Given the description of an element on the screen output the (x, y) to click on. 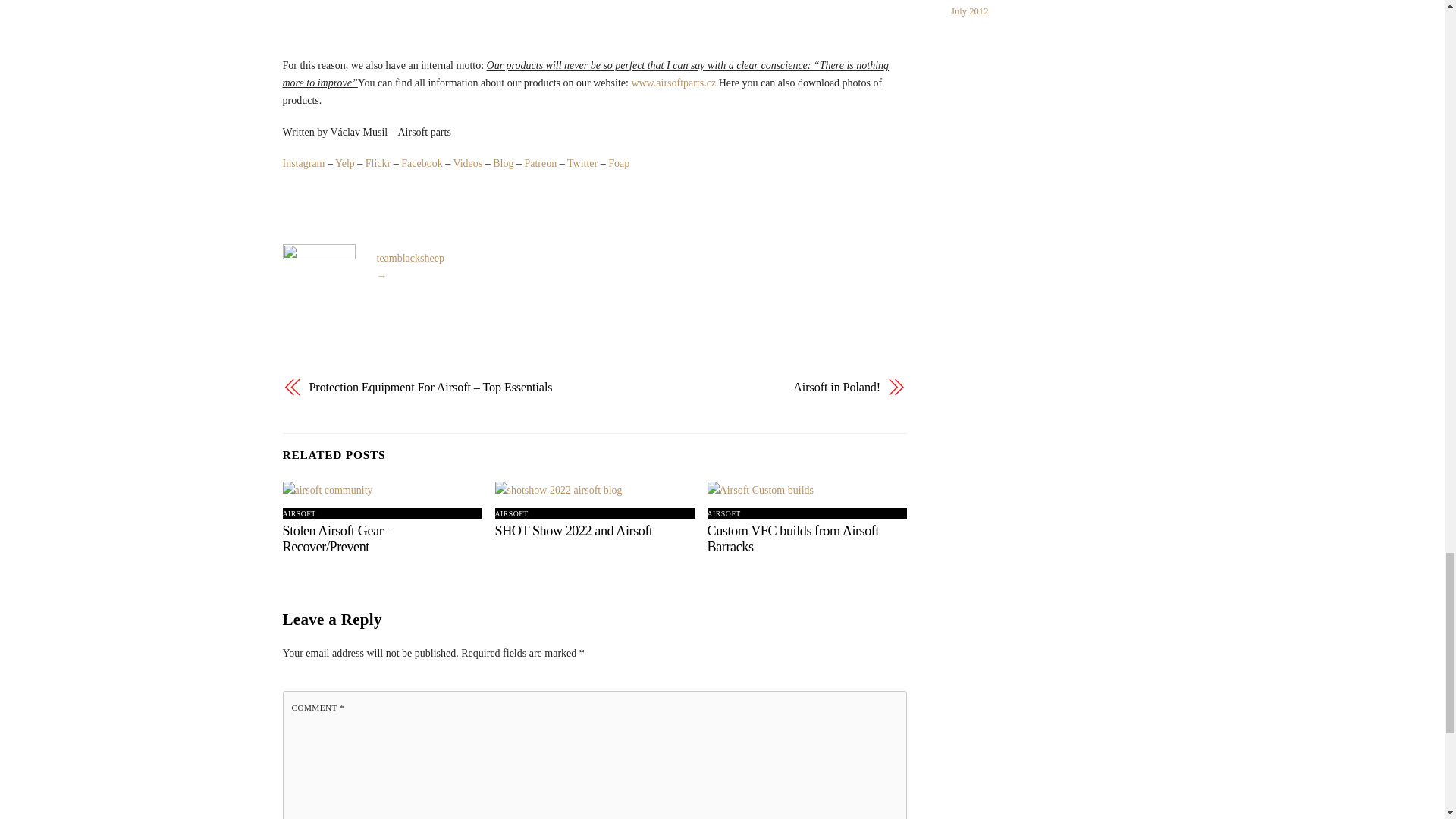
Twitter (581, 163)
SHOT Show 2022 and Airsoft (573, 530)
teamblacksheep (409, 257)
Blog (503, 163)
Custom VFC builds from Airsoft Barracks (793, 538)
Facebook (421, 163)
Instagram (303, 163)
Patreon (540, 163)
Yelp (344, 163)
AIRSOFT (298, 513)
